Given the description of an element on the screen output the (x, y) to click on. 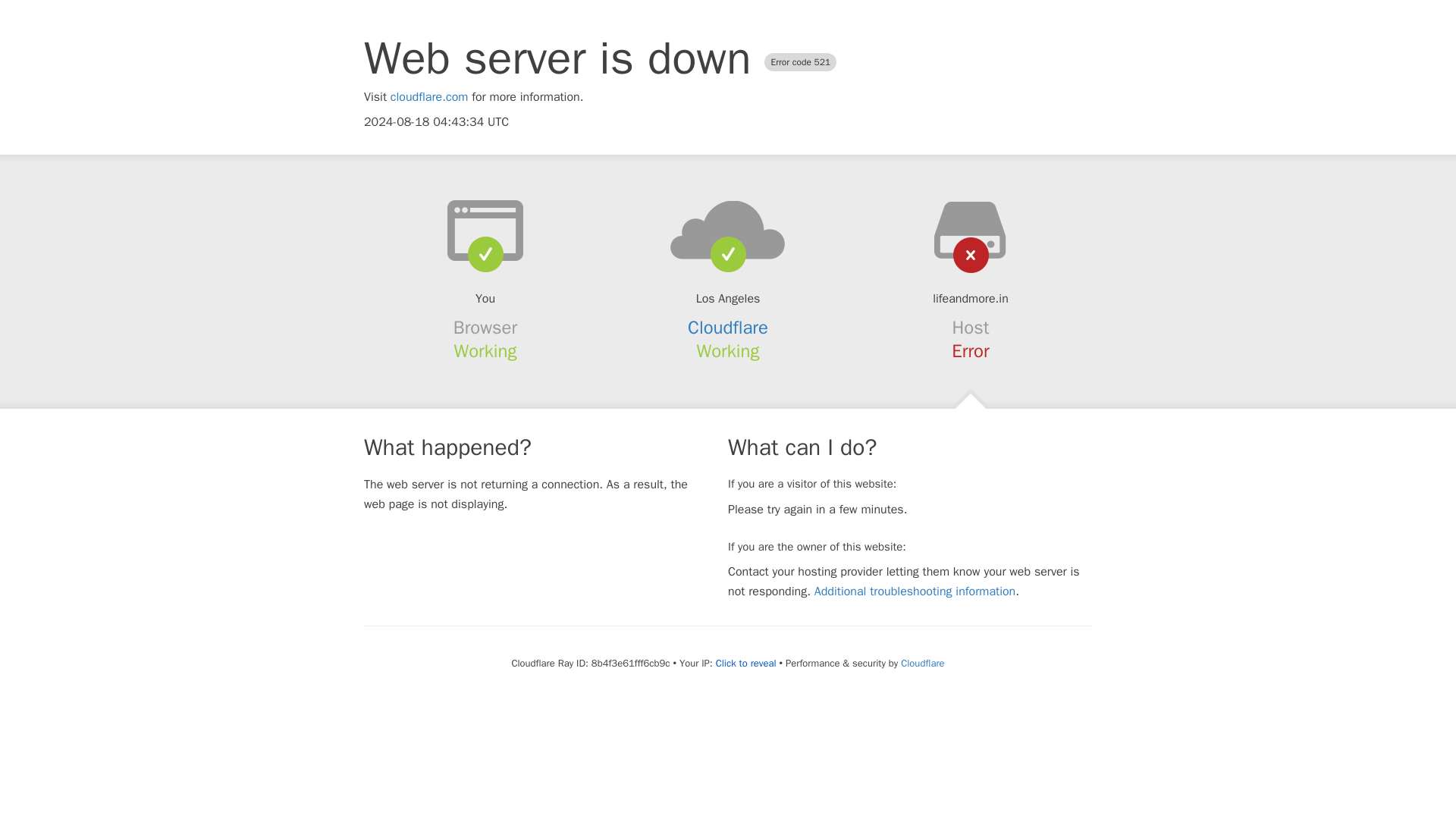
cloudflare.com (429, 96)
Click to reveal (746, 663)
Cloudflare (922, 662)
Cloudflare (727, 327)
Additional troubleshooting information (913, 590)
